Given the description of an element on the screen output the (x, y) to click on. 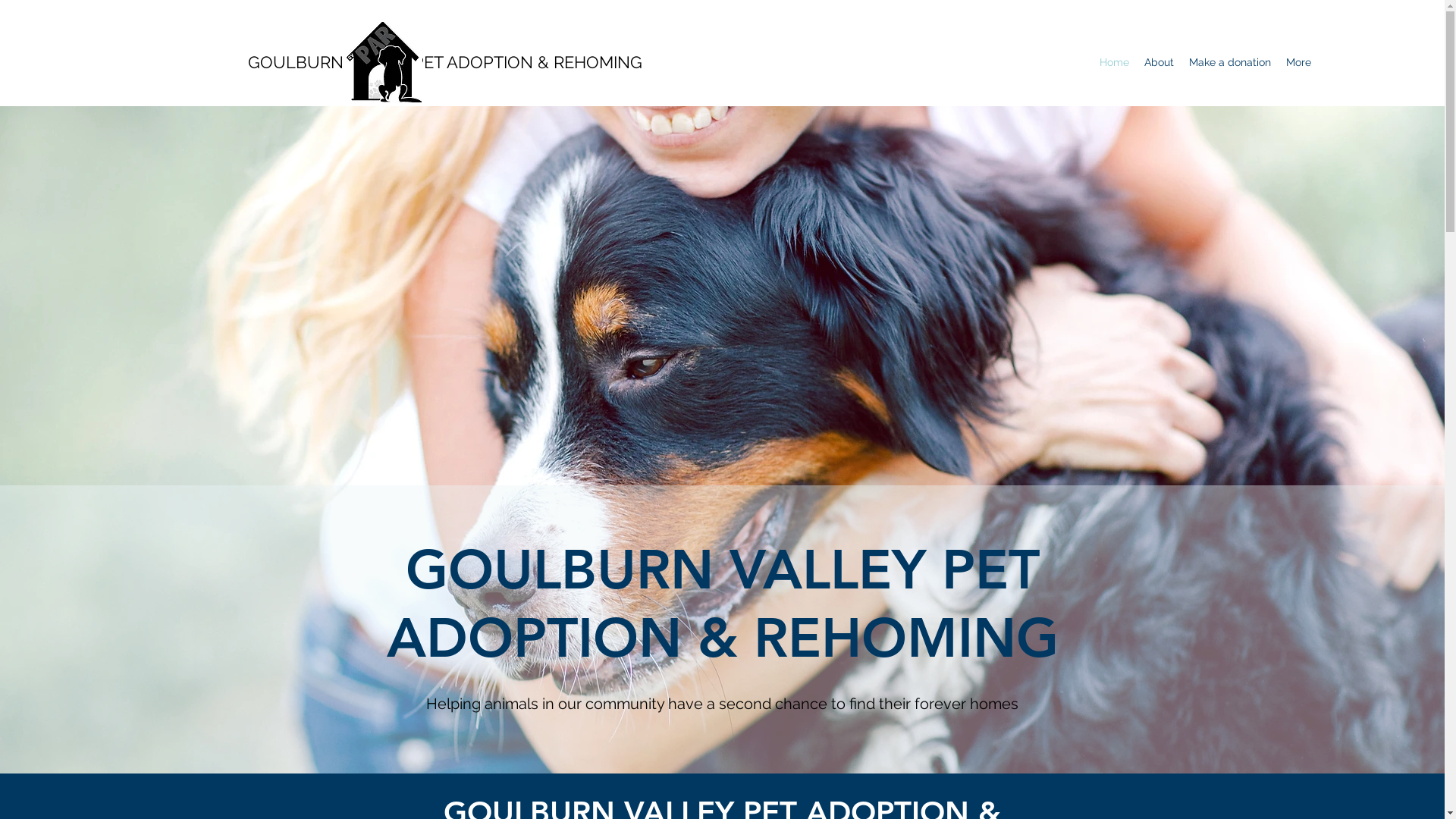
Home Element type: text (1114, 61)
About Element type: text (1158, 61)
GOULBURN VALLEY PET ADOPTION & REHOMING Element type: text (444, 62)
Make a donation Element type: text (1229, 61)
